Given the description of an element on the screen output the (x, y) to click on. 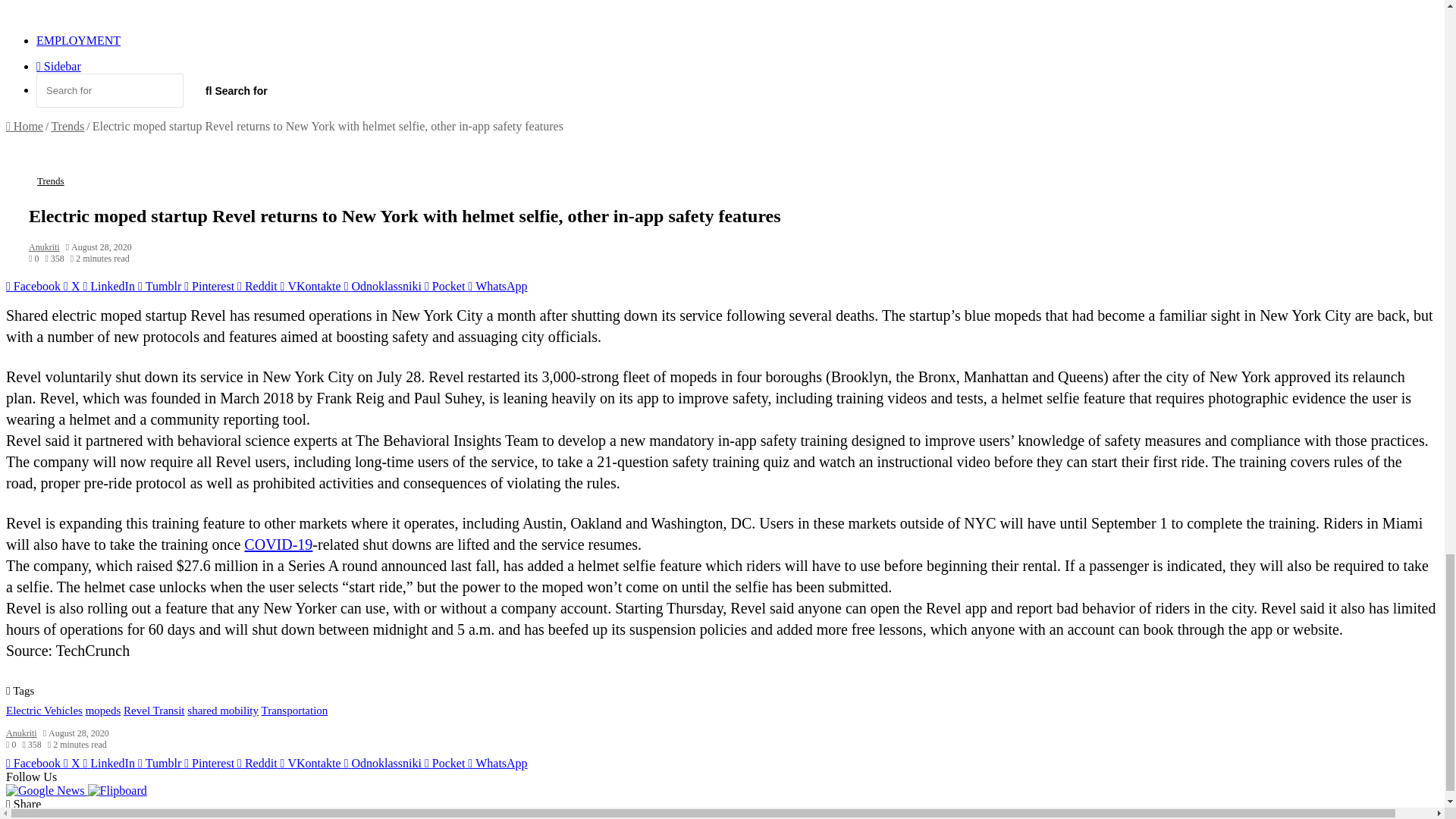
Search for (109, 90)
Facebook (34, 286)
Reddit (259, 286)
Anukriti (44, 246)
VKontakte (312, 286)
Odnoklassniki (384, 286)
X (73, 286)
LinkedIn (110, 286)
Tumblr (161, 286)
Pocket (446, 286)
